Given the description of an element on the screen output the (x, y) to click on. 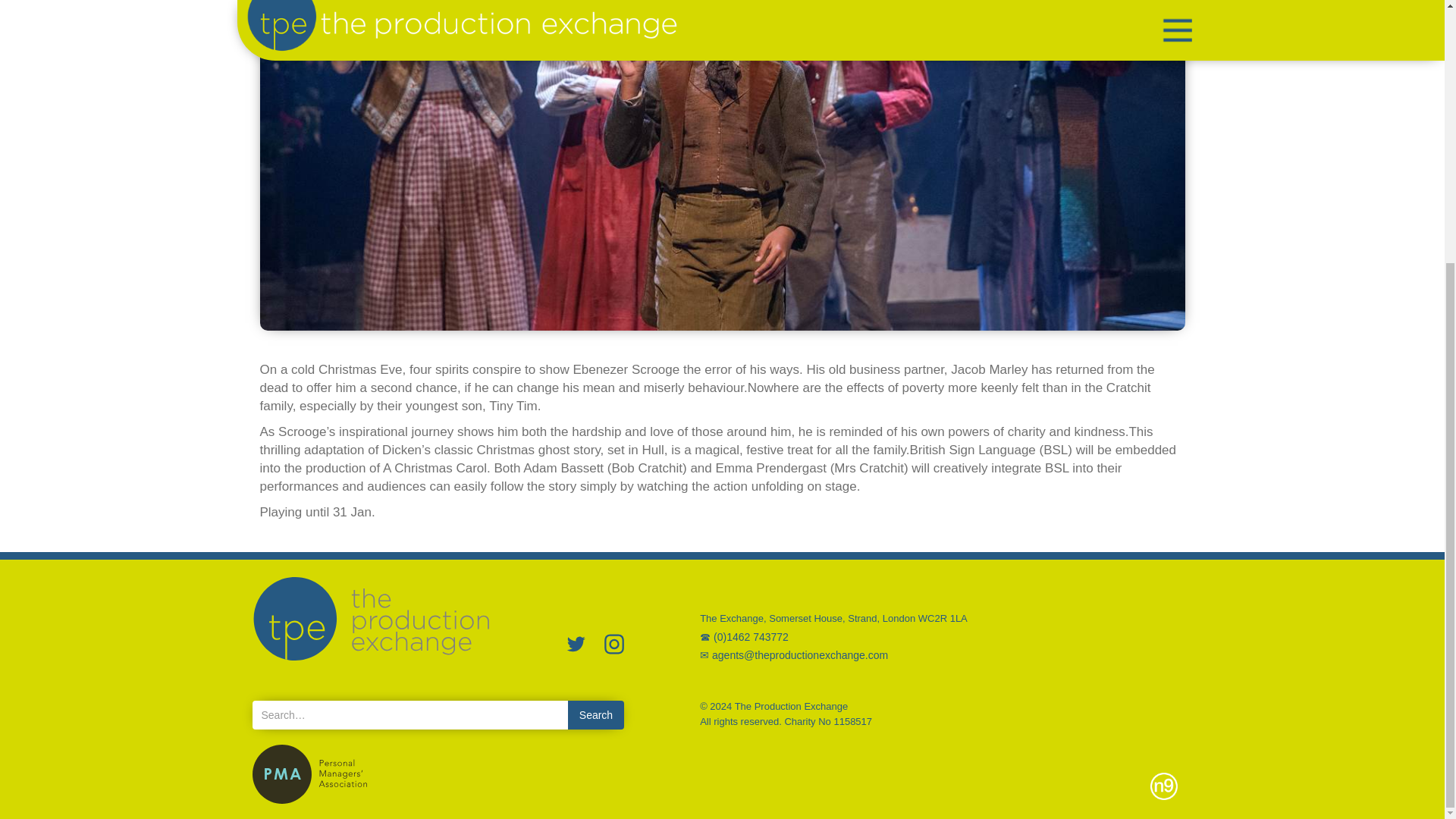
Search (595, 715)
Search (595, 715)
Search (595, 715)
